Given the description of an element on the screen output the (x, y) to click on. 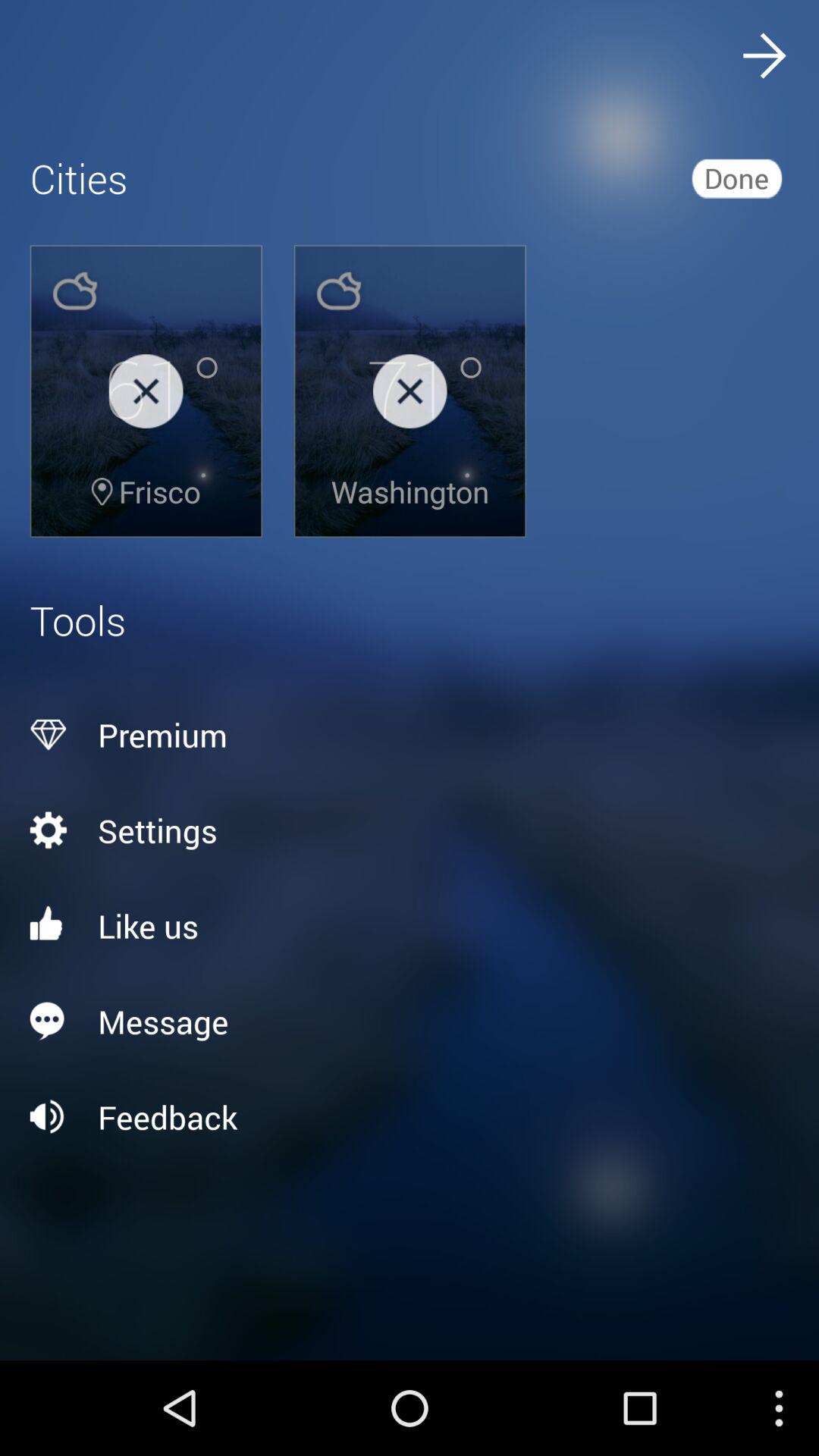
turn on the message icon (409, 1021)
